Given the description of an element on the screen output the (x, y) to click on. 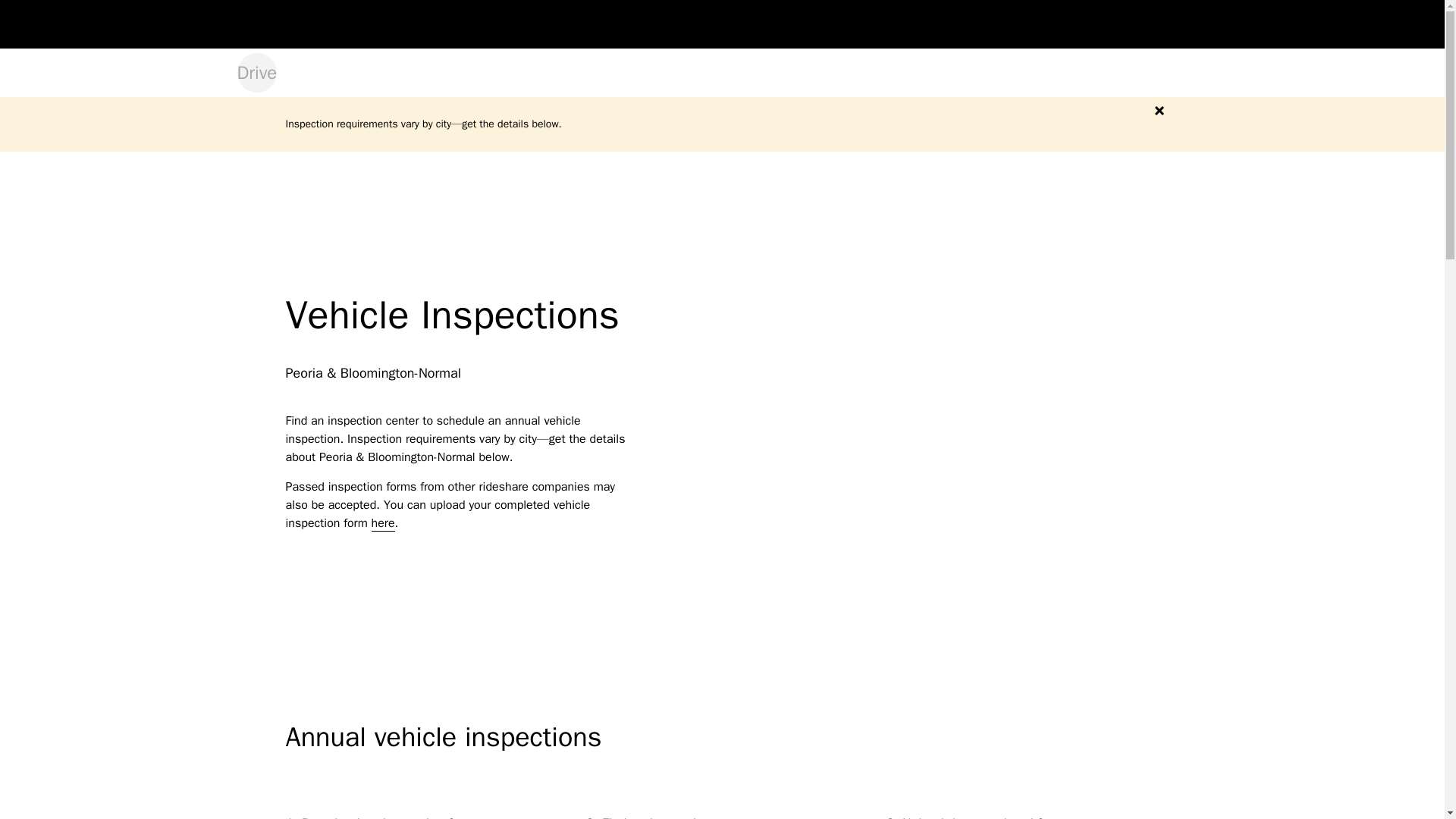
here (382, 523)
Uber (254, 24)
Sign up (1161, 23)
Drive (255, 72)
, (1203, 24)
, (1204, 23)
Log in (1109, 23)
